Given the description of an element on the screen output the (x, y) to click on. 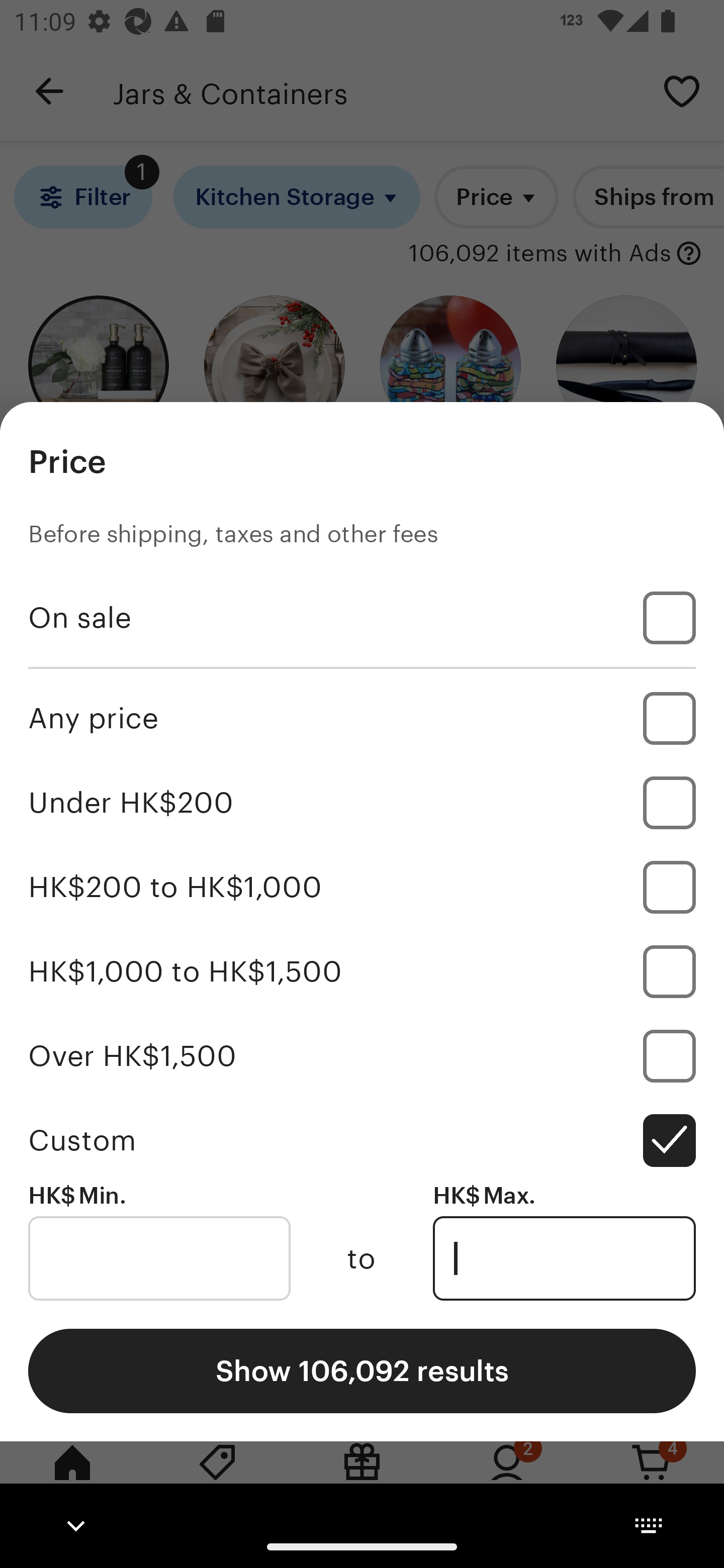
On sale (362, 617)
Any price (362, 717)
Under HK$200 (362, 802)
HK$200 to HK$1,000 (362, 887)
HK$1,000 to HK$1,500 (362, 970)
Over HK$1,500 (362, 1054)
Custom (362, 1139)
Show 106,092 results (361, 1370)
